Given the description of an element on the screen output the (x, y) to click on. 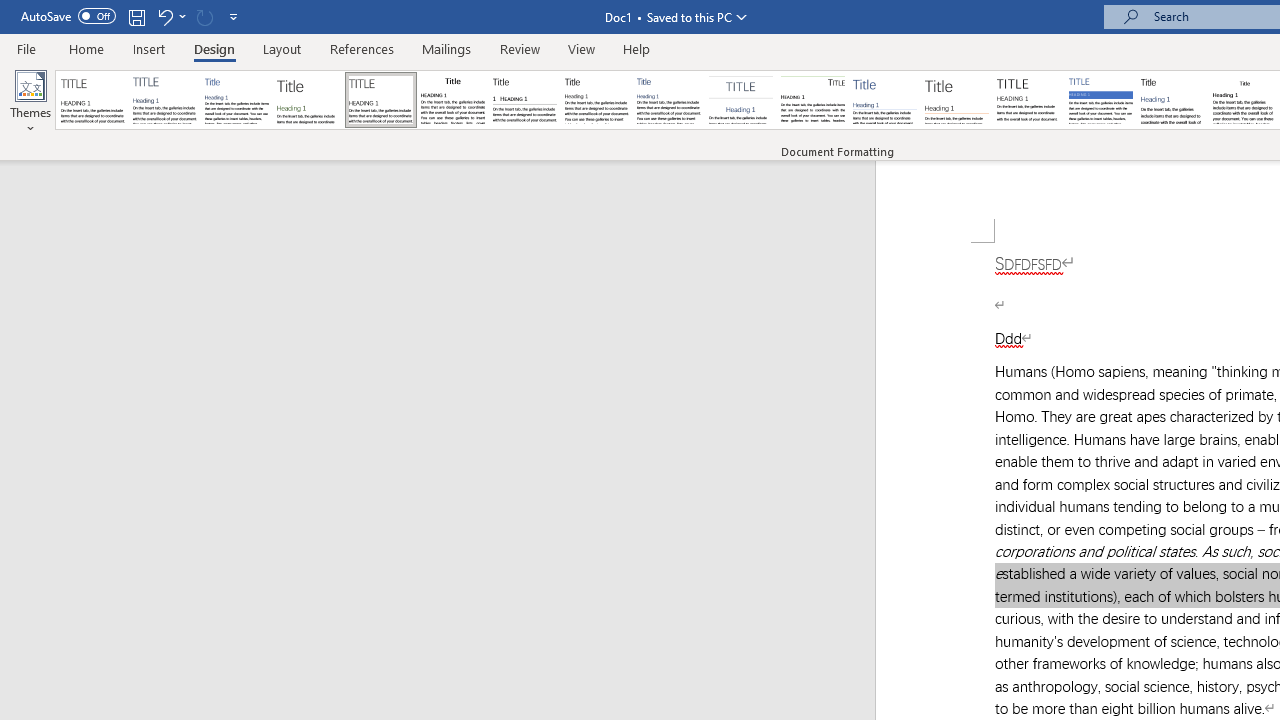
Black & White (Word 2013) (596, 100)
Minimalist (1028, 100)
Themes (30, 102)
Lines (Distinctive) (812, 100)
Shaded (1100, 100)
Black & White (Classic) (452, 100)
Lines (Simple) (884, 100)
